Given the description of an element on the screen output the (x, y) to click on. 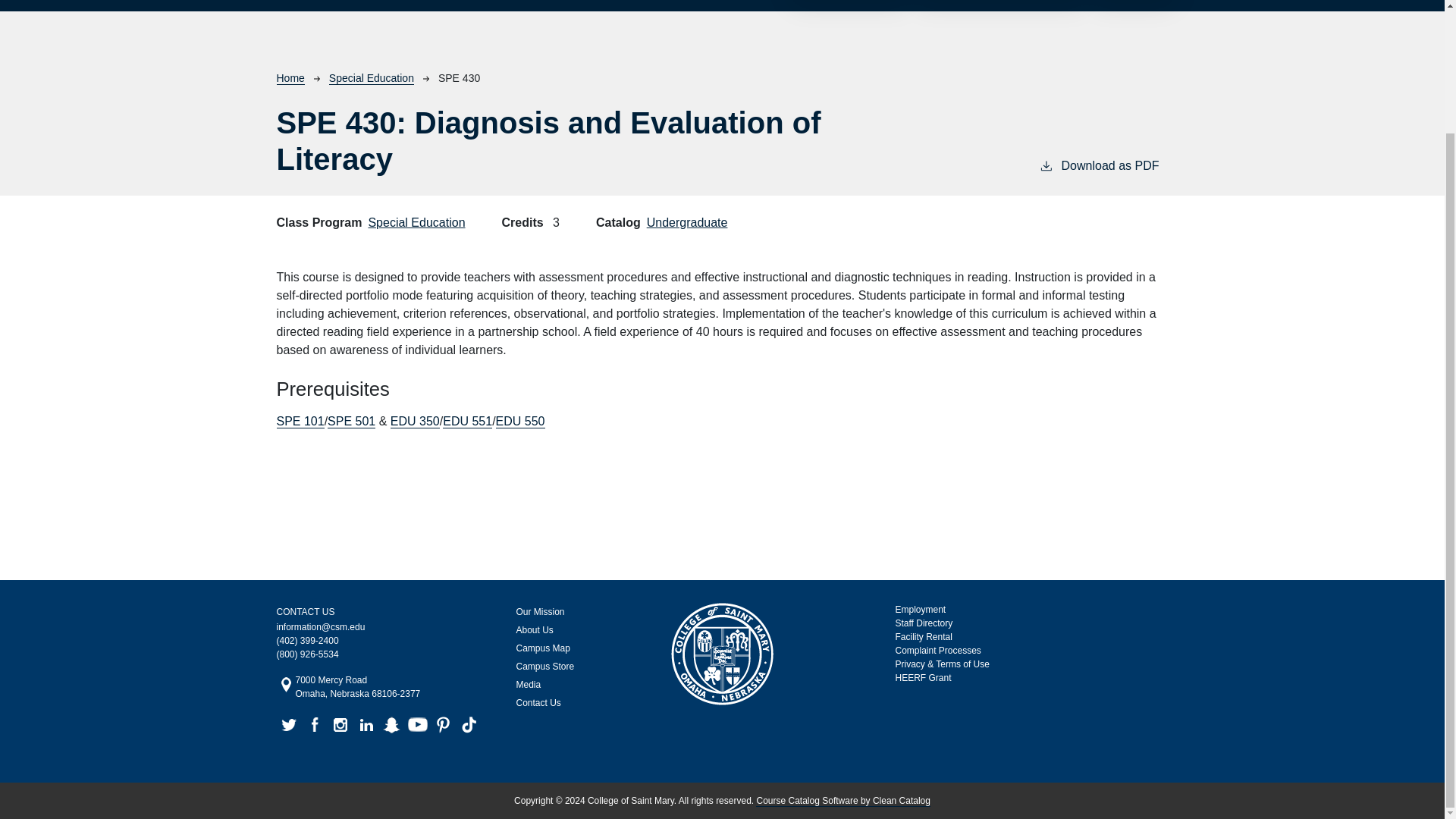
Employment (919, 609)
Contact Us (576, 702)
About Us (576, 629)
Undergraduate (687, 222)
youtube (416, 724)
linkedin (365, 724)
SPE 501 (351, 421)
Facility Rental (923, 636)
Staff Directory (923, 623)
Our Mission (576, 611)
Special Education (416, 222)
Campus Map (576, 648)
Campus Store (576, 666)
tiktok (468, 724)
Home (290, 78)
